Given the description of an element on the screen output the (x, y) to click on. 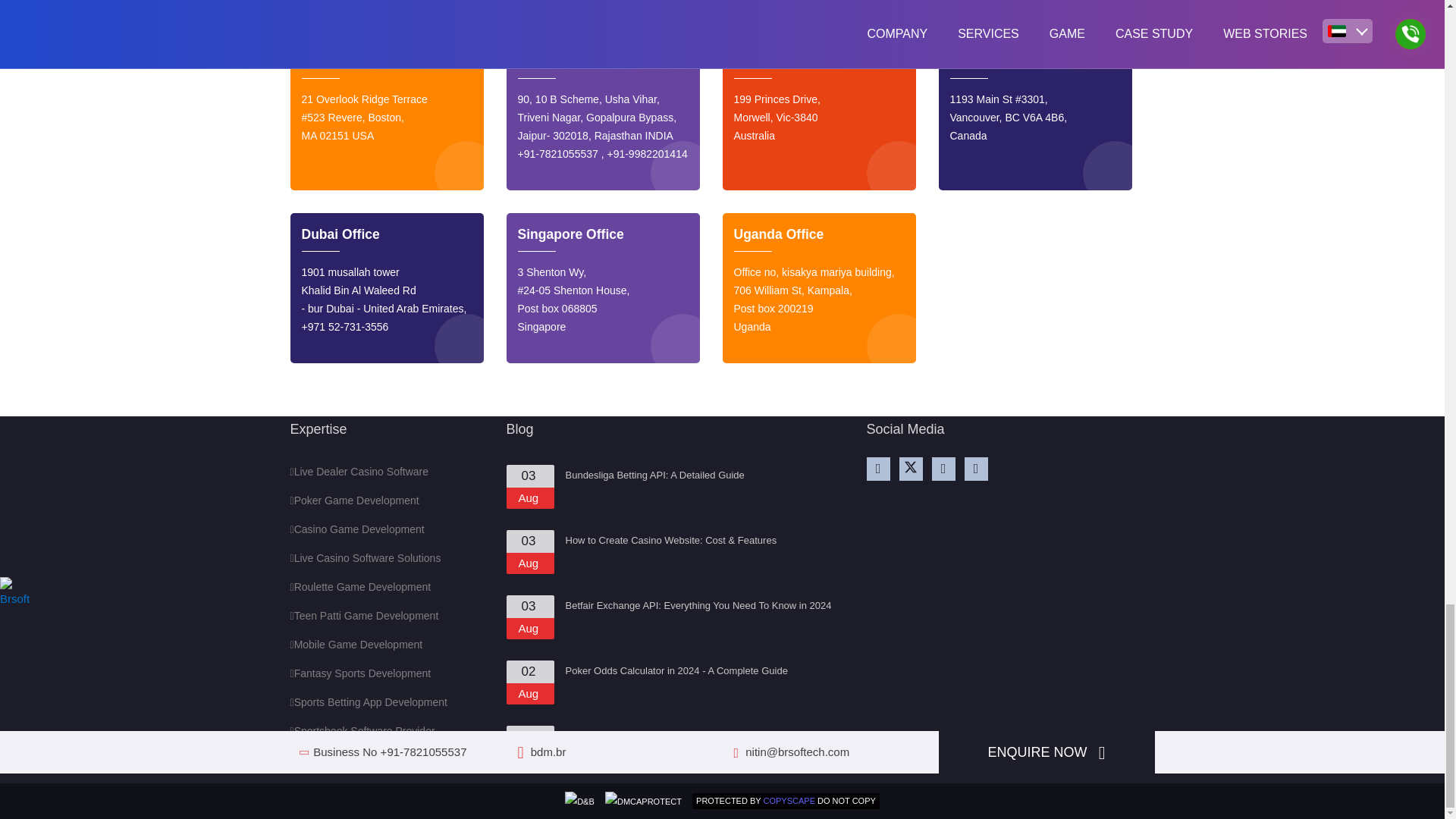
Live Dealer Casino Software (358, 471)
Poker Game Development (354, 500)
